Given the description of an element on the screen output the (x, y) to click on. 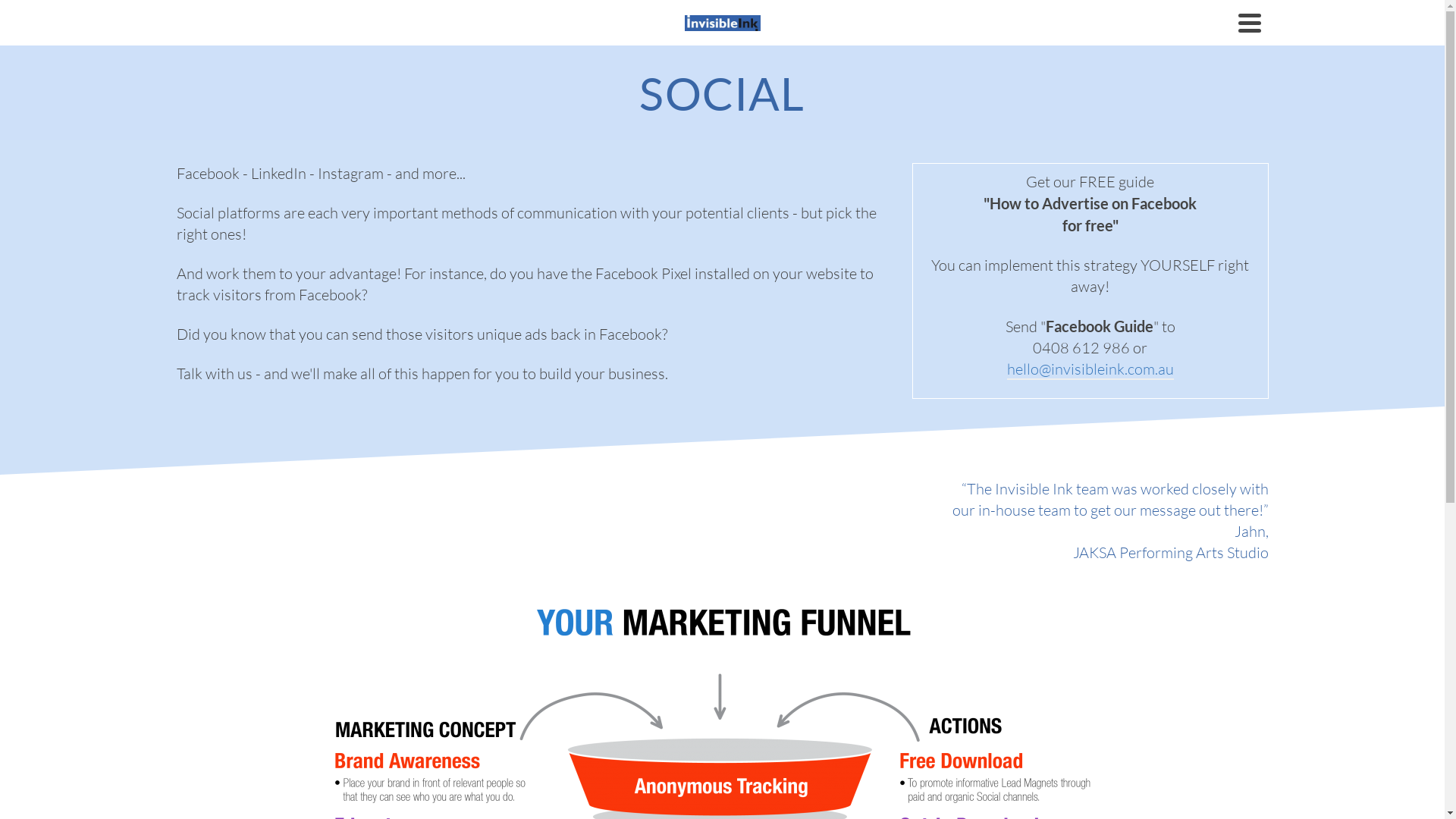
hello@invisibleink.com.au Element type: text (1090, 369)
